Given the description of an element on the screen output the (x, y) to click on. 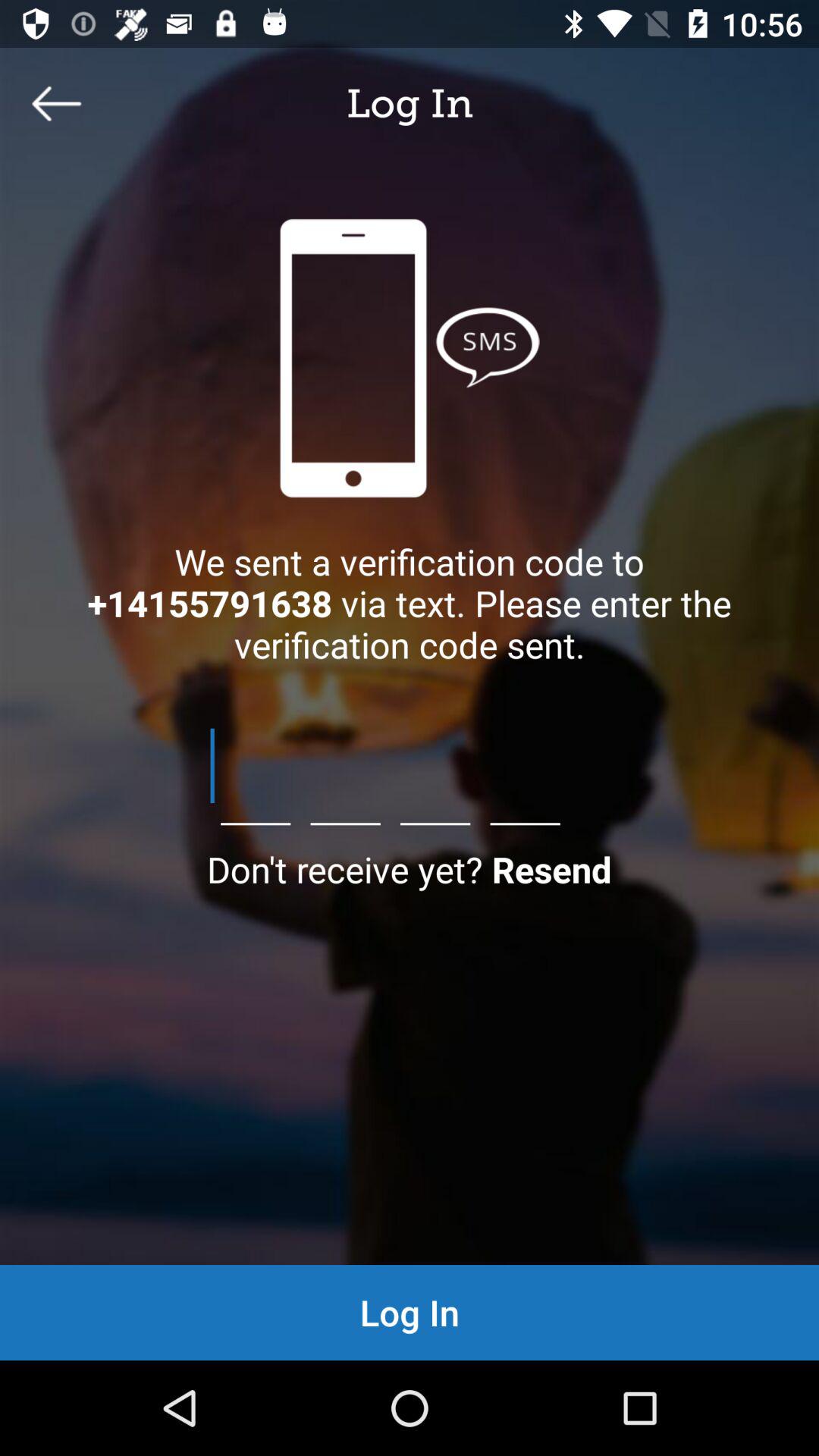
verifie code box (409, 765)
